Given the description of an element on the screen output the (x, y) to click on. 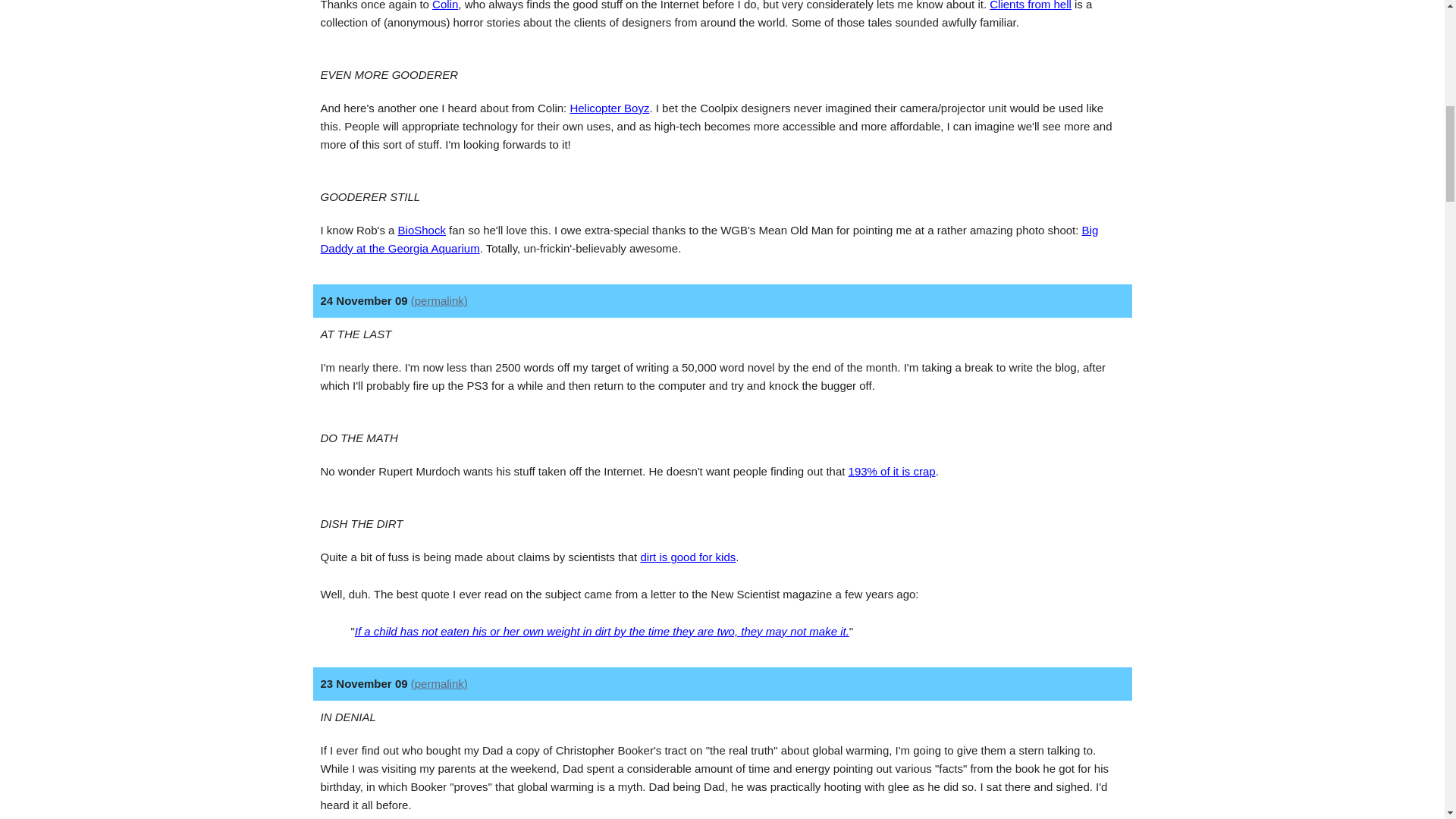
Big Daddy at the Georgia Aquarium (708, 238)
Clients from hell (1030, 5)
dirt is good for kids (687, 556)
BioShock (421, 229)
Colin (445, 5)
Helicopter Boyz (609, 107)
